Given the description of an element on the screen output the (x, y) to click on. 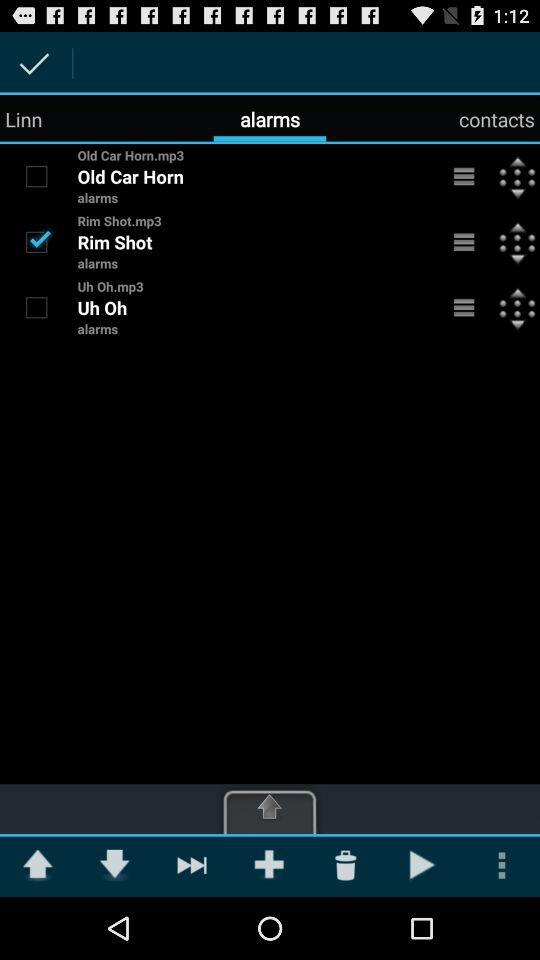
select item (36, 307)
